Given the description of an element on the screen output the (x, y) to click on. 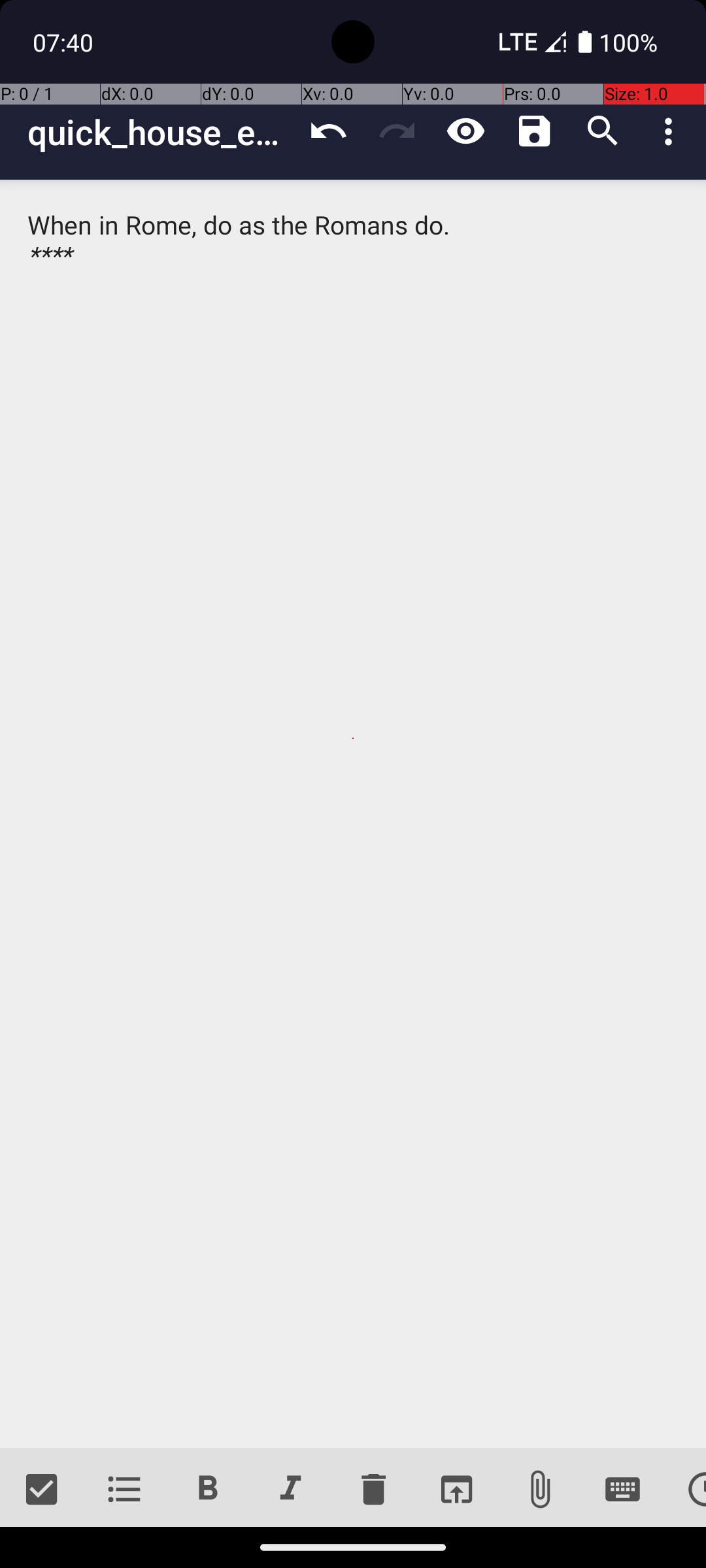
quick_house_edited Element type: android.widget.TextView (160, 131)
When in Rome, do as the Romans do.
**** Element type: android.widget.EditText (353, 813)
07:40 Element type: android.widget.TextView (64, 41)
